Given the description of an element on the screen output the (x, y) to click on. 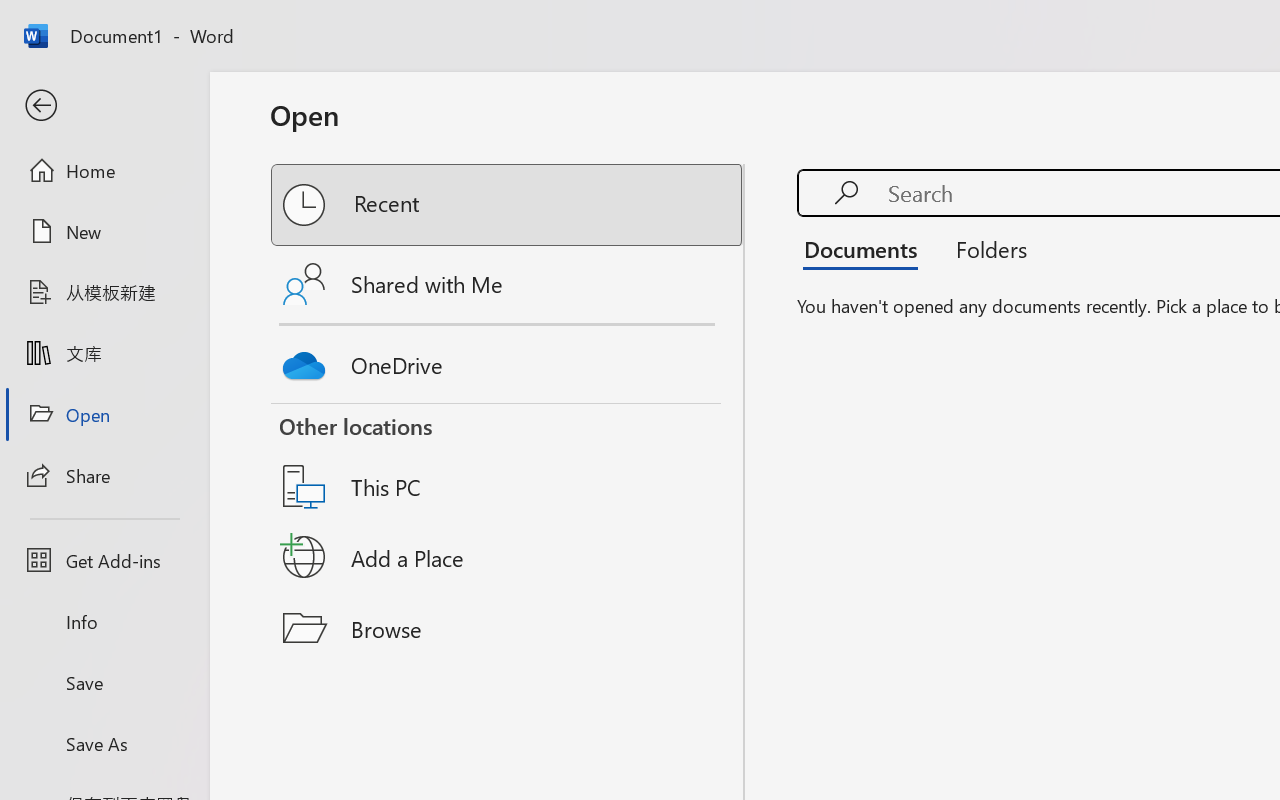
Save As (104, 743)
Info (104, 621)
OneDrive (507, 359)
Browse (507, 627)
Folders (984, 248)
